Given the description of an element on the screen output the (x, y) to click on. 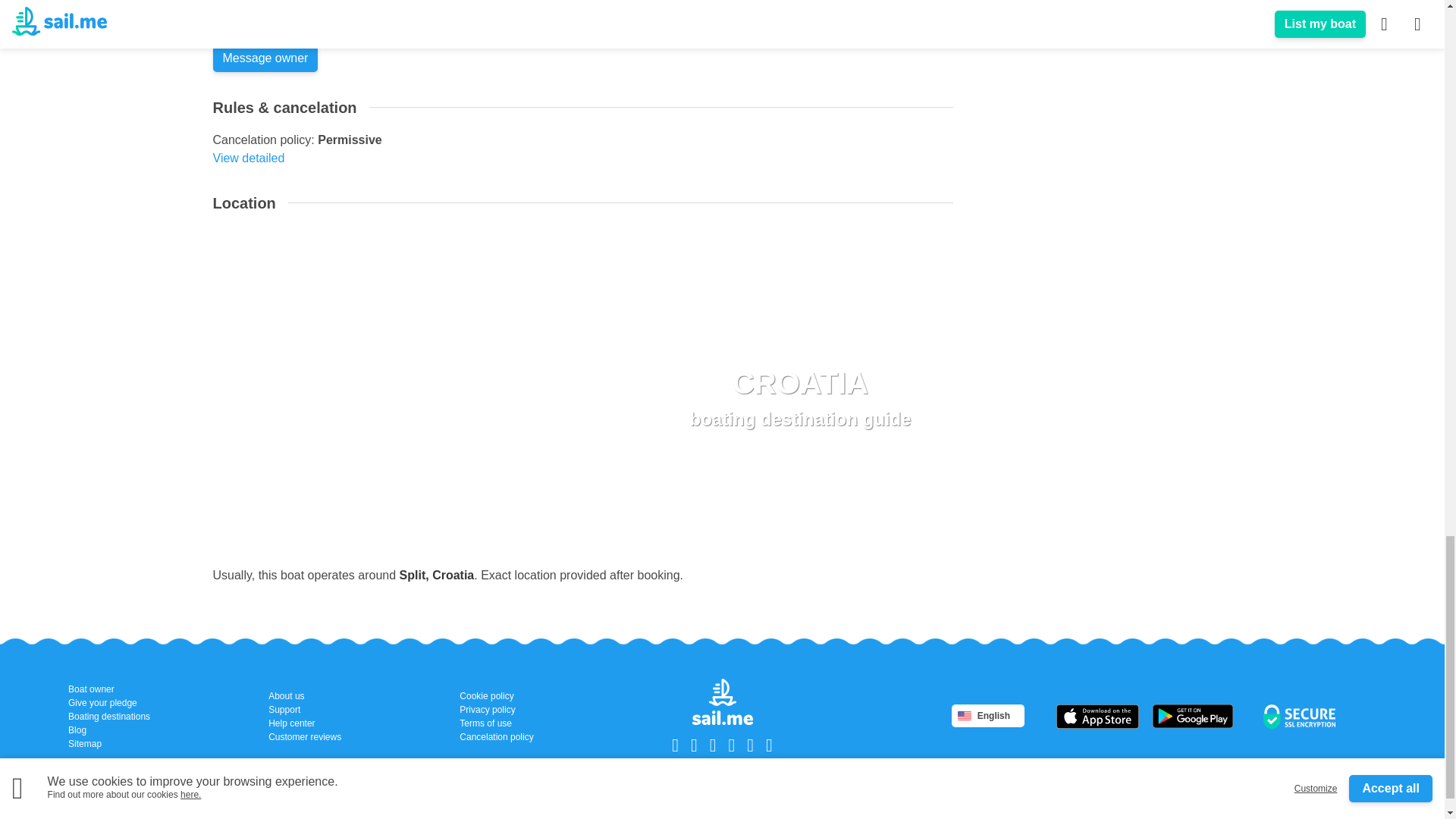
Blog (108, 730)
Message owner (264, 58)
Click to visit Lorena (250, 22)
Boat owner (108, 689)
Help center (799, 396)
Sitemap (303, 723)
Click to visit sail.me's Boat owner page (108, 744)
Cookie policy (108, 689)
Click to visit Croatia page (496, 695)
See full profile (799, 396)
View detailed (250, 22)
Privacy policy (247, 157)
Split, Croatia (496, 709)
Go to Cancelation policy (436, 574)
